Given the description of an element on the screen output the (x, y) to click on. 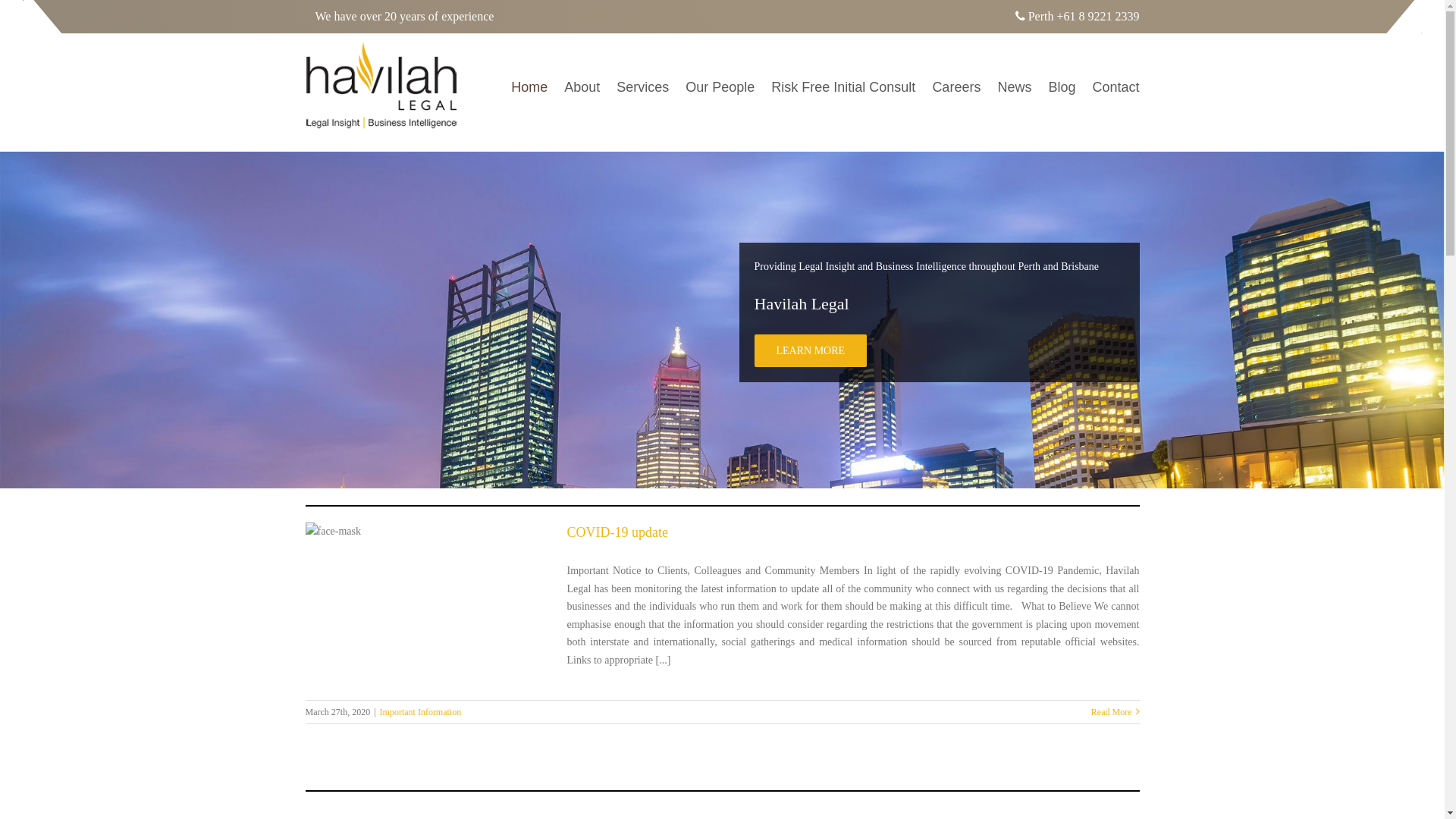
Our People Element type: text (719, 86)
Blog Element type: text (1061, 86)
COVID-19 update Element type: text (617, 531)
Services Element type: text (642, 86)
+61 8 9221 2339 Element type: text (1097, 15)
News Element type: text (1014, 86)
LEARN MORE Element type: text (809, 350)
About Element type: text (581, 86)
Careers Element type: text (955, 86)
Important Information Element type: text (420, 711)
Home Element type: text (529, 86)
Read More Element type: text (1111, 711)
Risk Free Initial Consult Element type: text (843, 86)
We have over 20 years of experience Element type: text (403, 16)
Contact Element type: text (1115, 86)
